Given the description of an element on the screen output the (x, y) to click on. 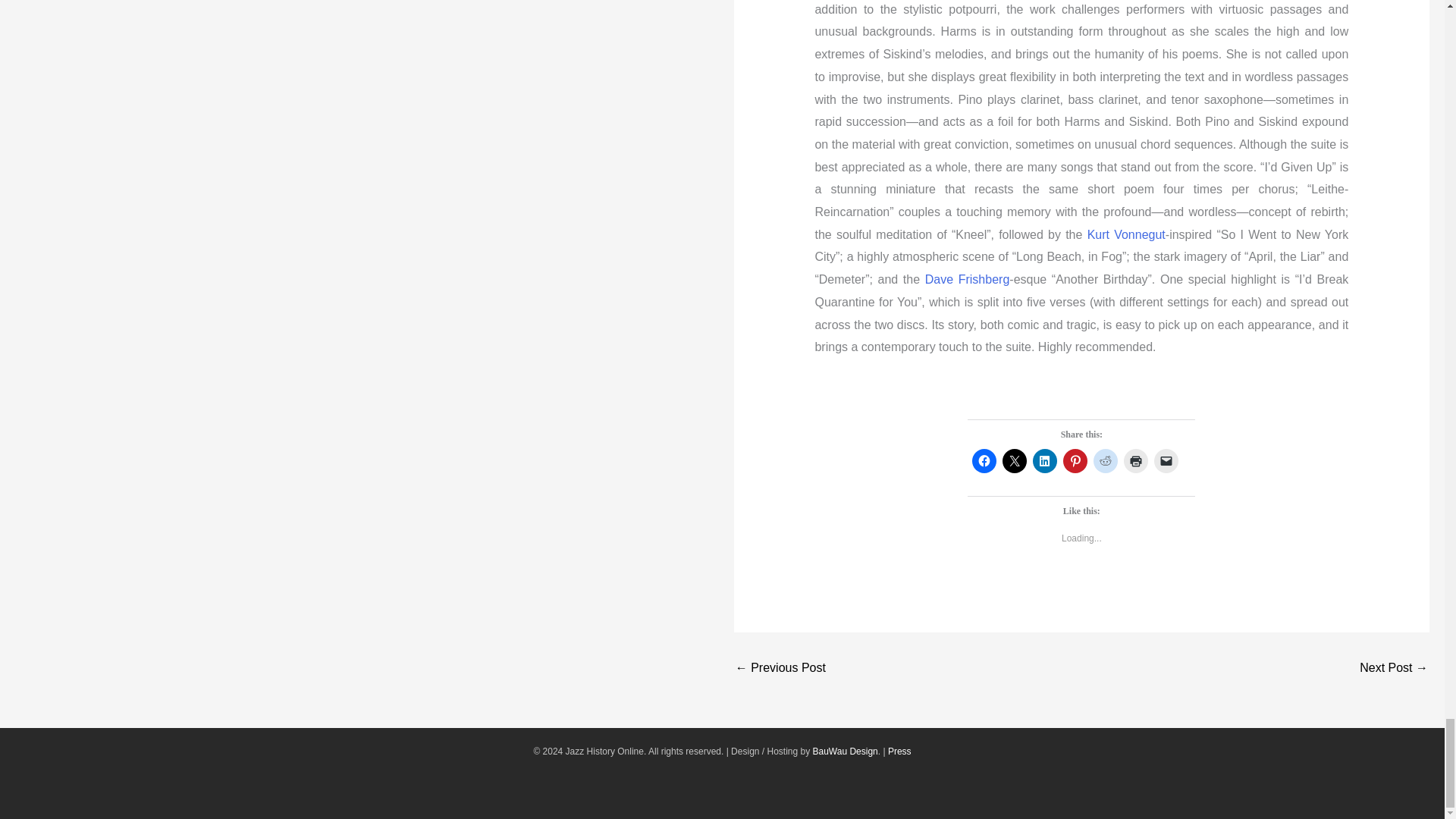
Click to share on Pinterest (1074, 460)
Click to share on Facebook (983, 460)
Click to email a link to a friend (1165, 460)
Click to share on X (1014, 460)
Click to share on LinkedIn (1044, 460)
Click to print (1136, 460)
Click to share on Reddit (1105, 460)
